Given the description of an element on the screen output the (x, y) to click on. 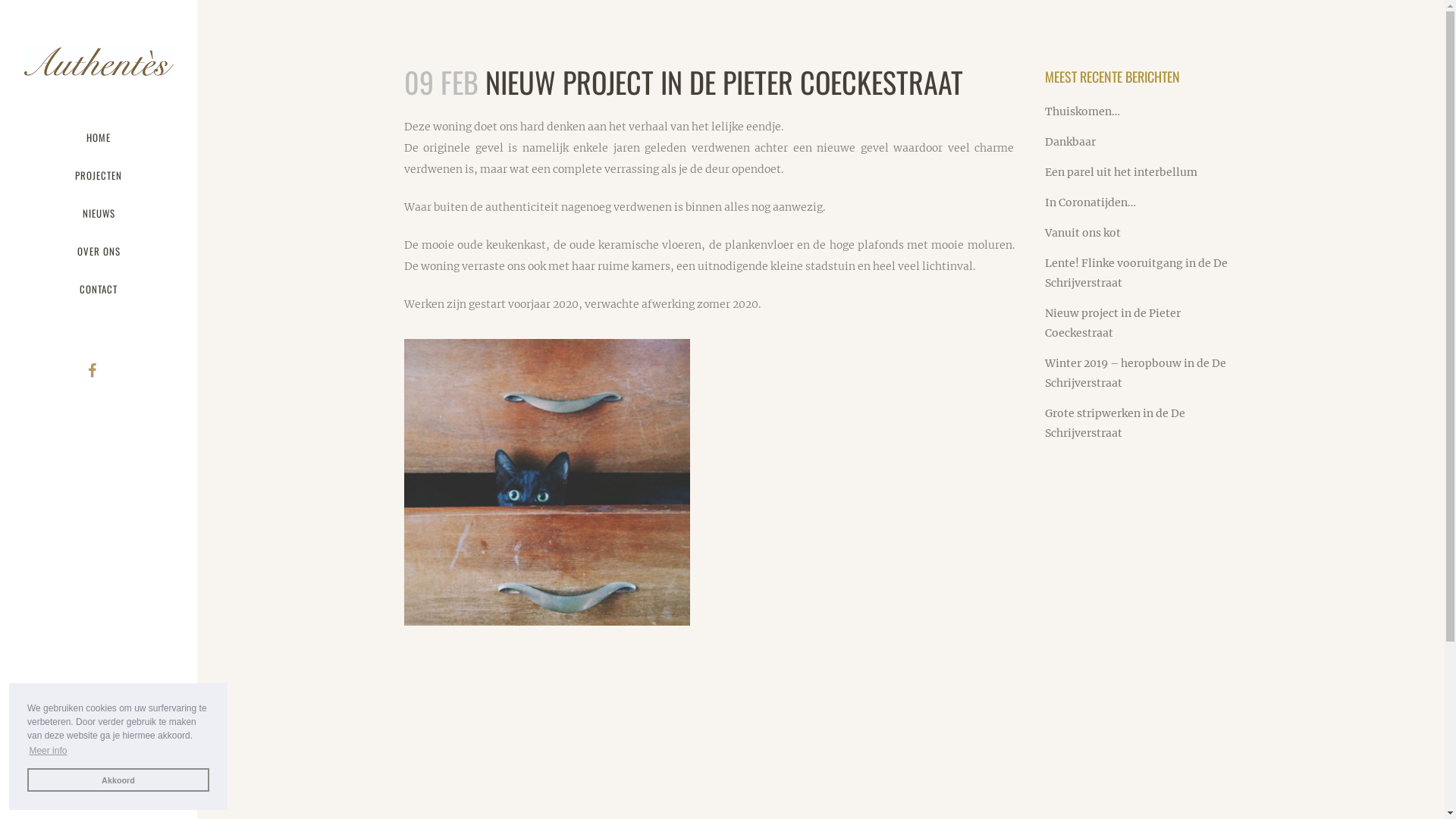
Een parel uit het interbellum Element type: text (1120, 171)
Webdesign by Omega Websolutions Element type: text (1121, 798)
HOME Element type: text (98, 137)
Dankbaar Element type: text (1069, 141)
Nieuw project in de Pieter Coeckestraat Element type: text (1112, 322)
PROJECTEN Element type: text (98, 175)
Meer info Element type: text (48, 750)
Vanuit ons kot Element type: text (1082, 232)
Grote stripwerken in de De Schrijverstraat Element type: text (1114, 422)
Akkoord Element type: text (118, 779)
OVER ONS Element type: text (98, 250)
Lente! Flinke vooruitgang in de De Schrijverstraat Element type: text (1135, 272)
NIEUWS Element type: text (98, 213)
CONTACT Element type: text (98, 288)
Privacyverklaring Element type: text (1073, 681)
